Given the description of an element on the screen output the (x, y) to click on. 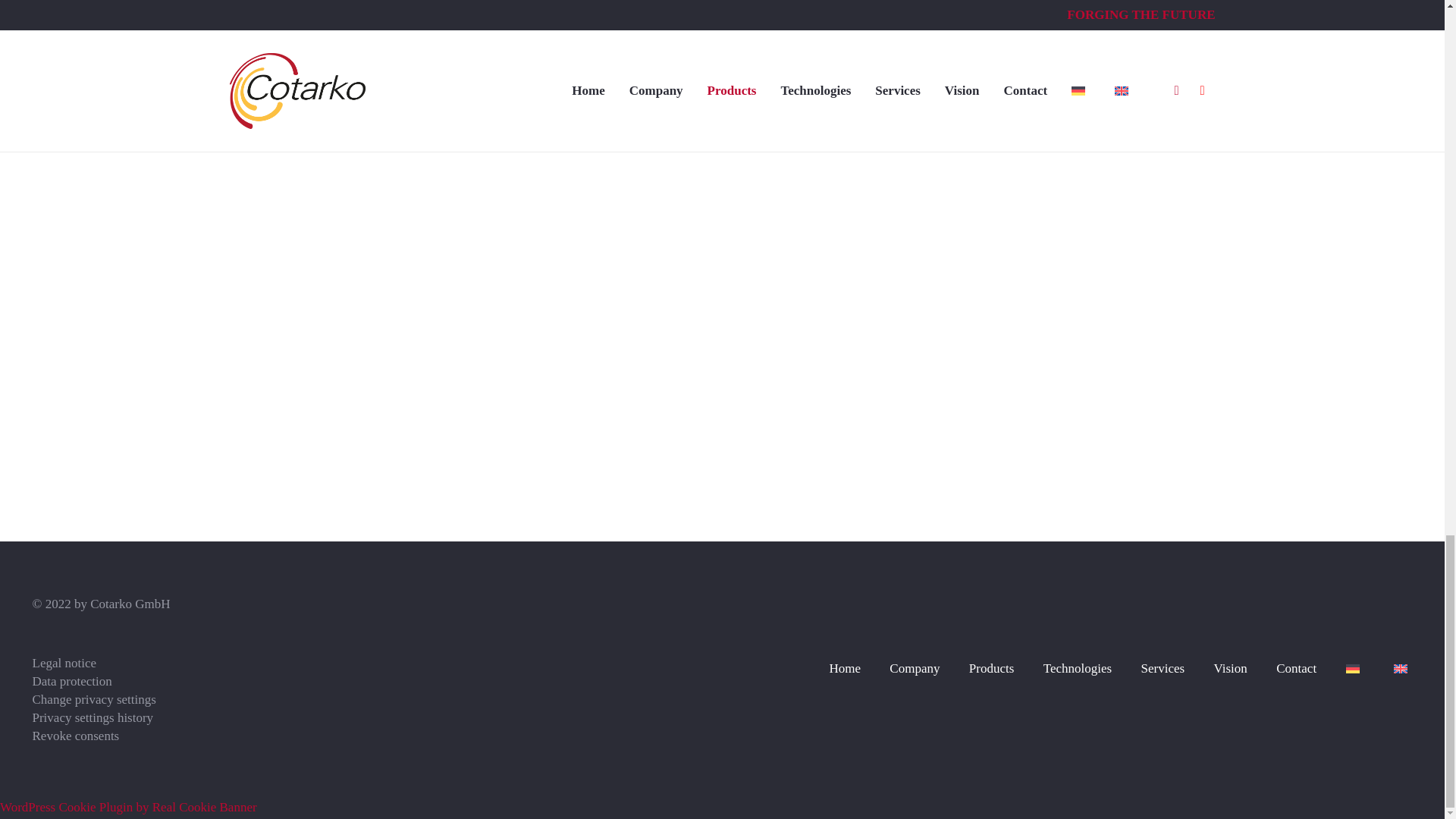
Services (1163, 667)
Home (844, 667)
Revoke consents (75, 735)
Change privacy settings (93, 699)
Privacy settings history (92, 717)
Vision (1230, 667)
Contact (1296, 667)
Products (991, 667)
Technologies (1077, 667)
Company (914, 667)
Data protection (72, 681)
Legal notice (64, 663)
